Given the description of an element on the screen output the (x, y) to click on. 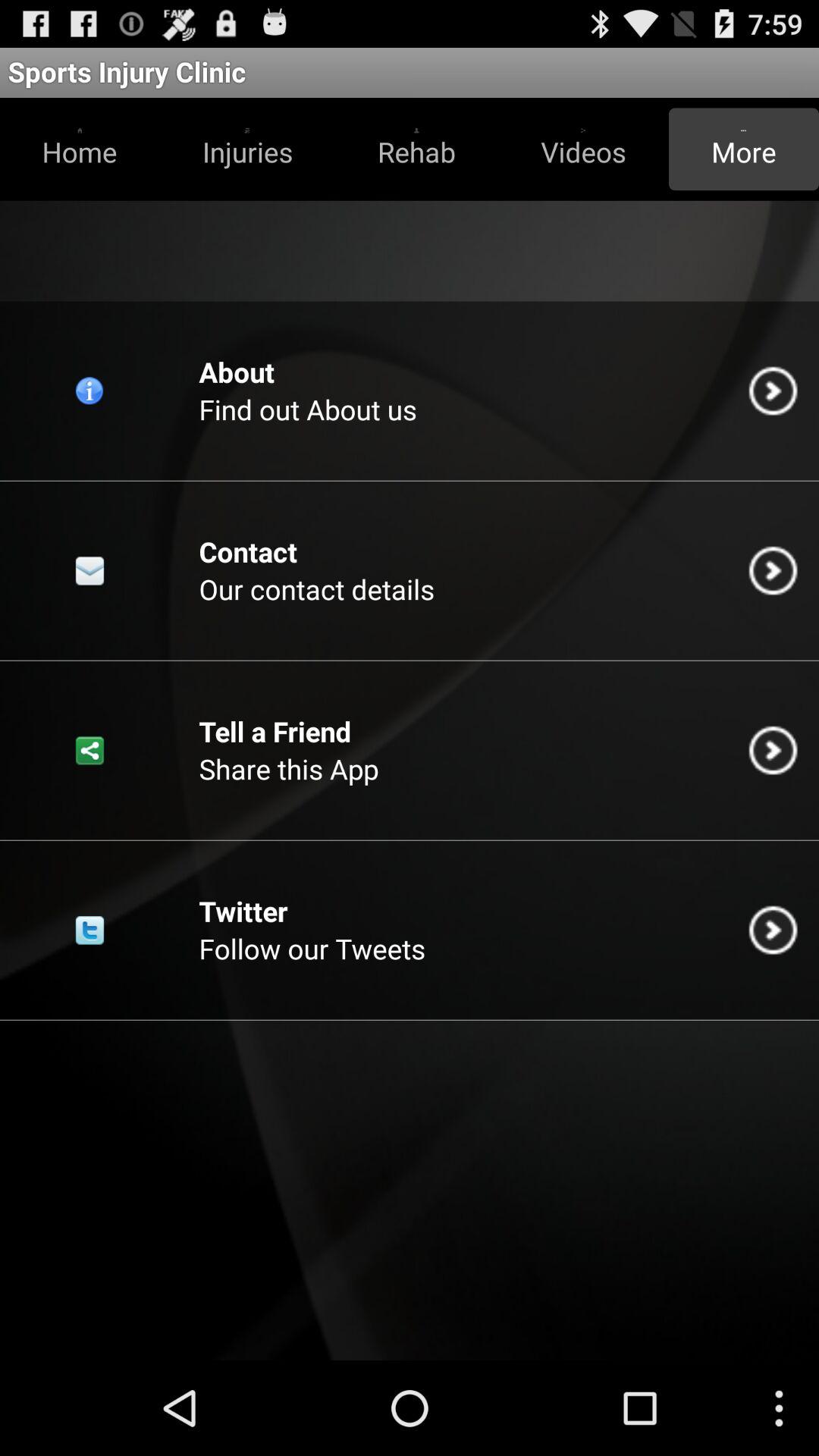
open the icon next to the rehab icon (246, 149)
